Given the description of an element on the screen output the (x, y) to click on. 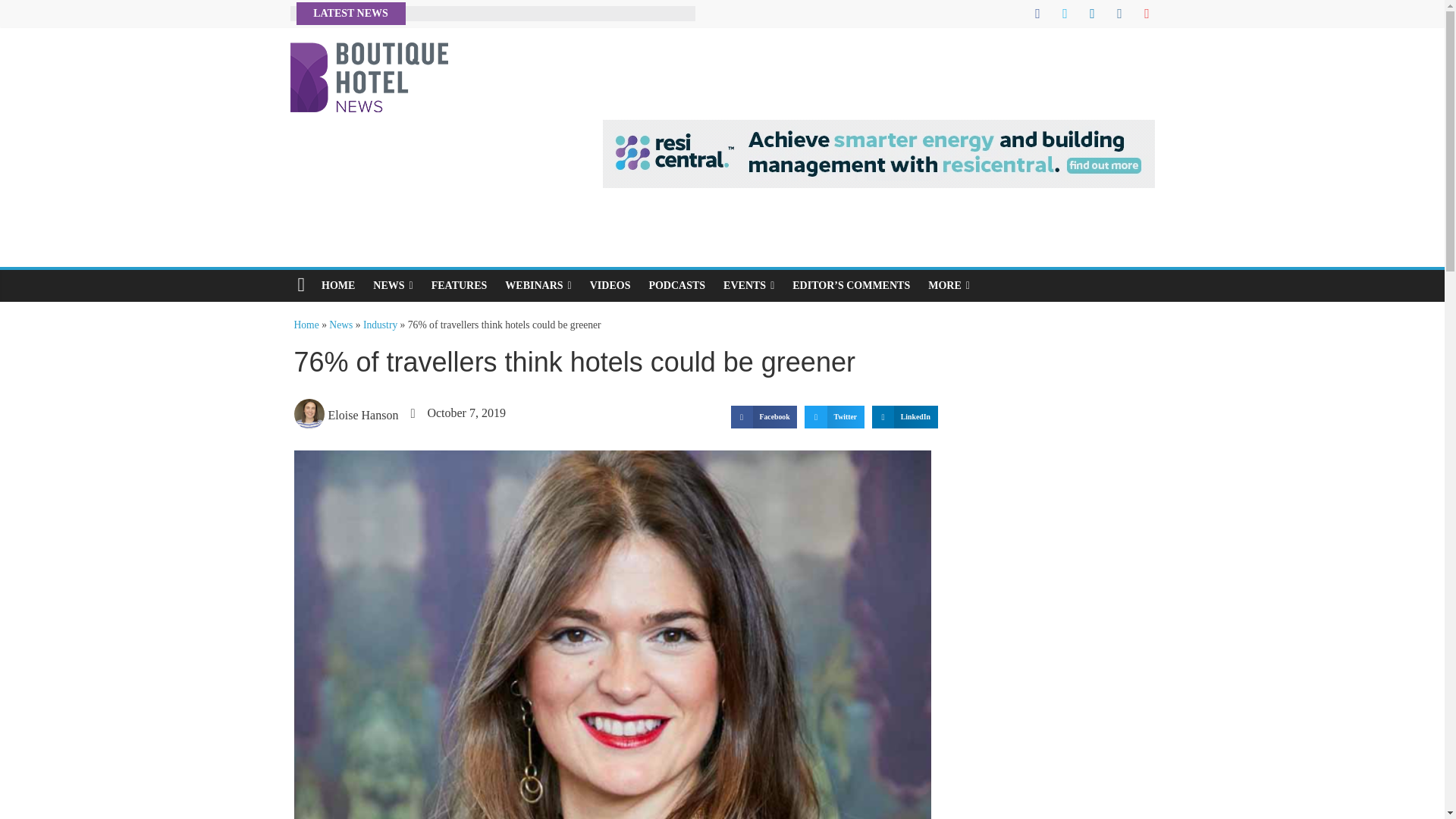
NEWS (393, 286)
FEATURES (459, 286)
HOME (338, 286)
